Given the description of an element on the screen output the (x, y) to click on. 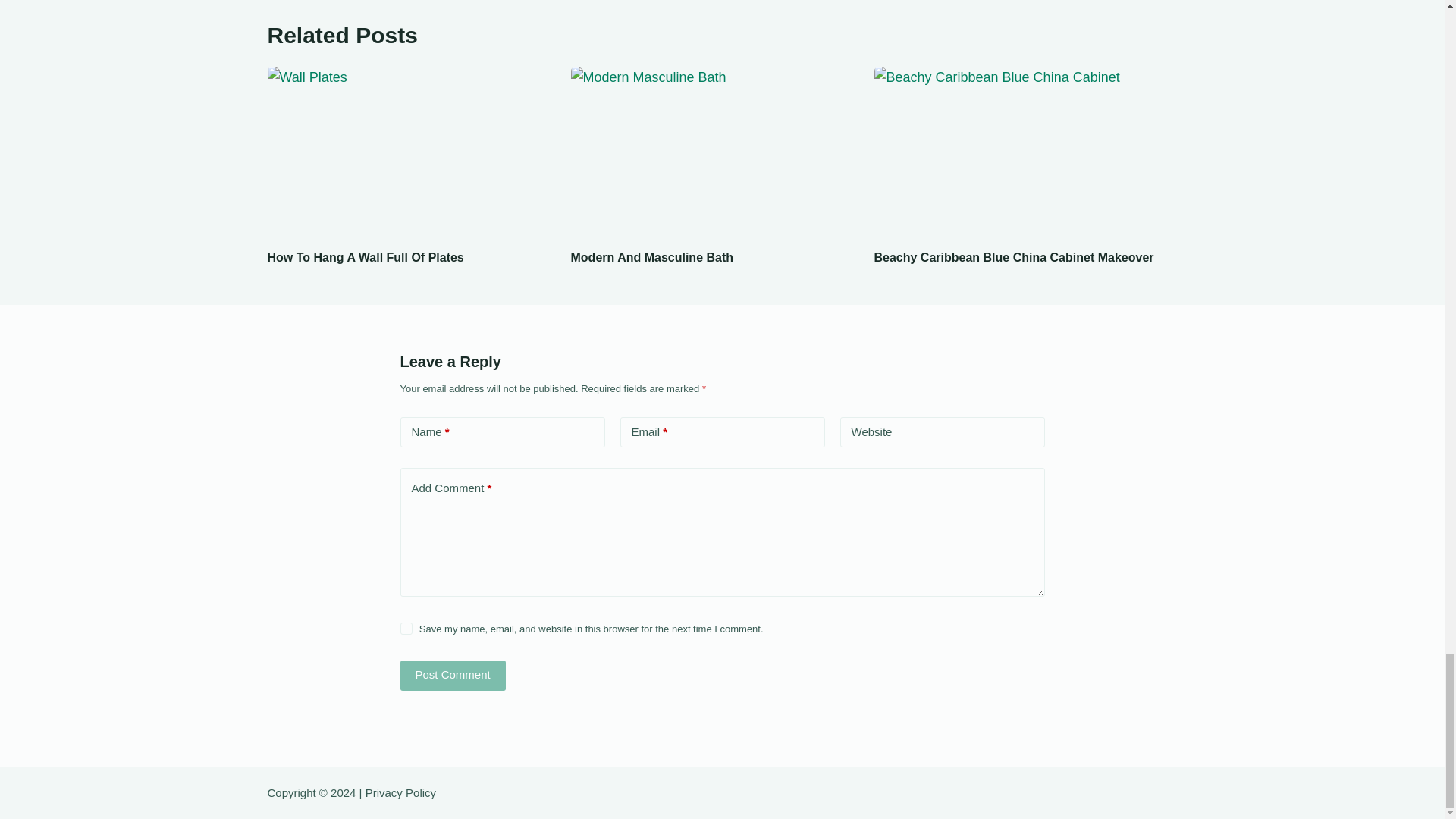
Modern And Masculine Bath (651, 256)
yes (406, 628)
Privacy Policy (400, 792)
How To Hang A Wall Full Of Plates (364, 256)
Post Comment (452, 675)
Beachy Caribbean Blue China Cabinet Makeover (1013, 256)
